Given the description of an element on the screen output the (x, y) to click on. 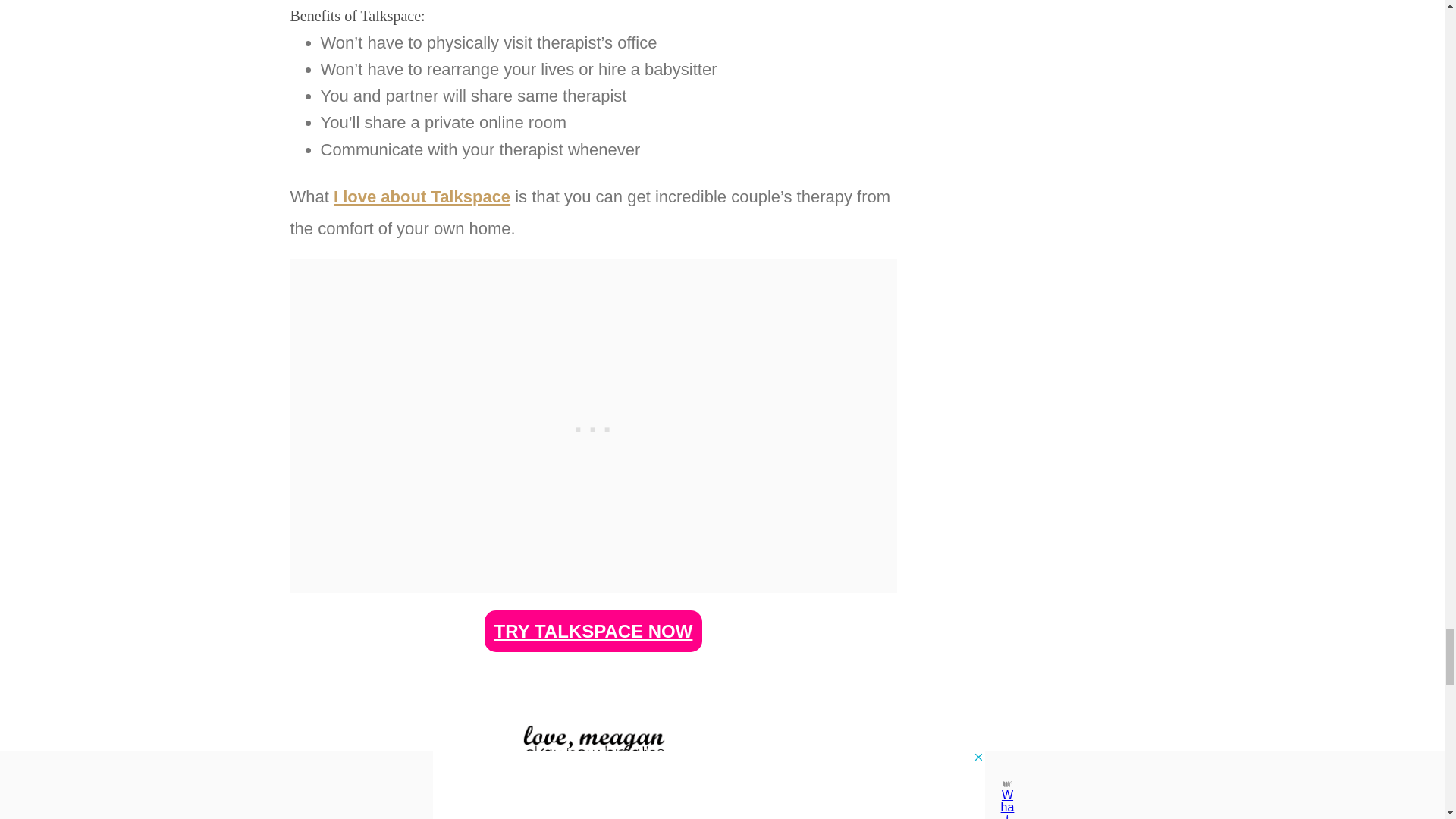
I love about Talkspace (422, 196)
Instagram (549, 818)
YouTube (600, 818)
TRY TALKSPACE NOW (593, 630)
Twitter (646, 818)
Facebook (494, 818)
Pinterest (691, 818)
